Given the description of an element on the screen output the (x, y) to click on. 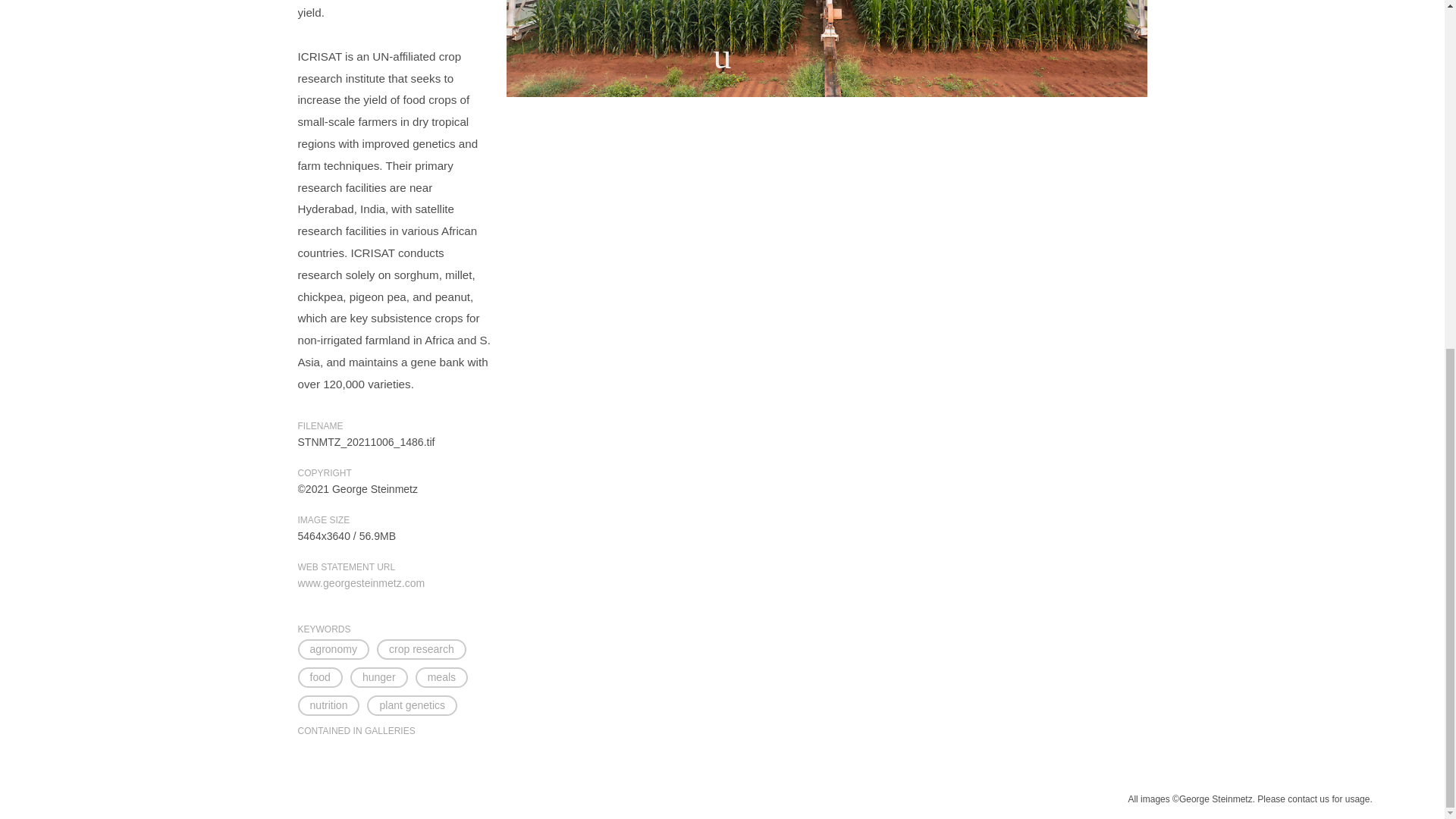
crop research (421, 649)
plant genetics (411, 705)
meals (441, 677)
hunger (378, 677)
agronomy (332, 649)
food (319, 677)
nutrition (328, 705)
www.georgesteinmetz.com (361, 582)
